Given the description of an element on the screen output the (x, y) to click on. 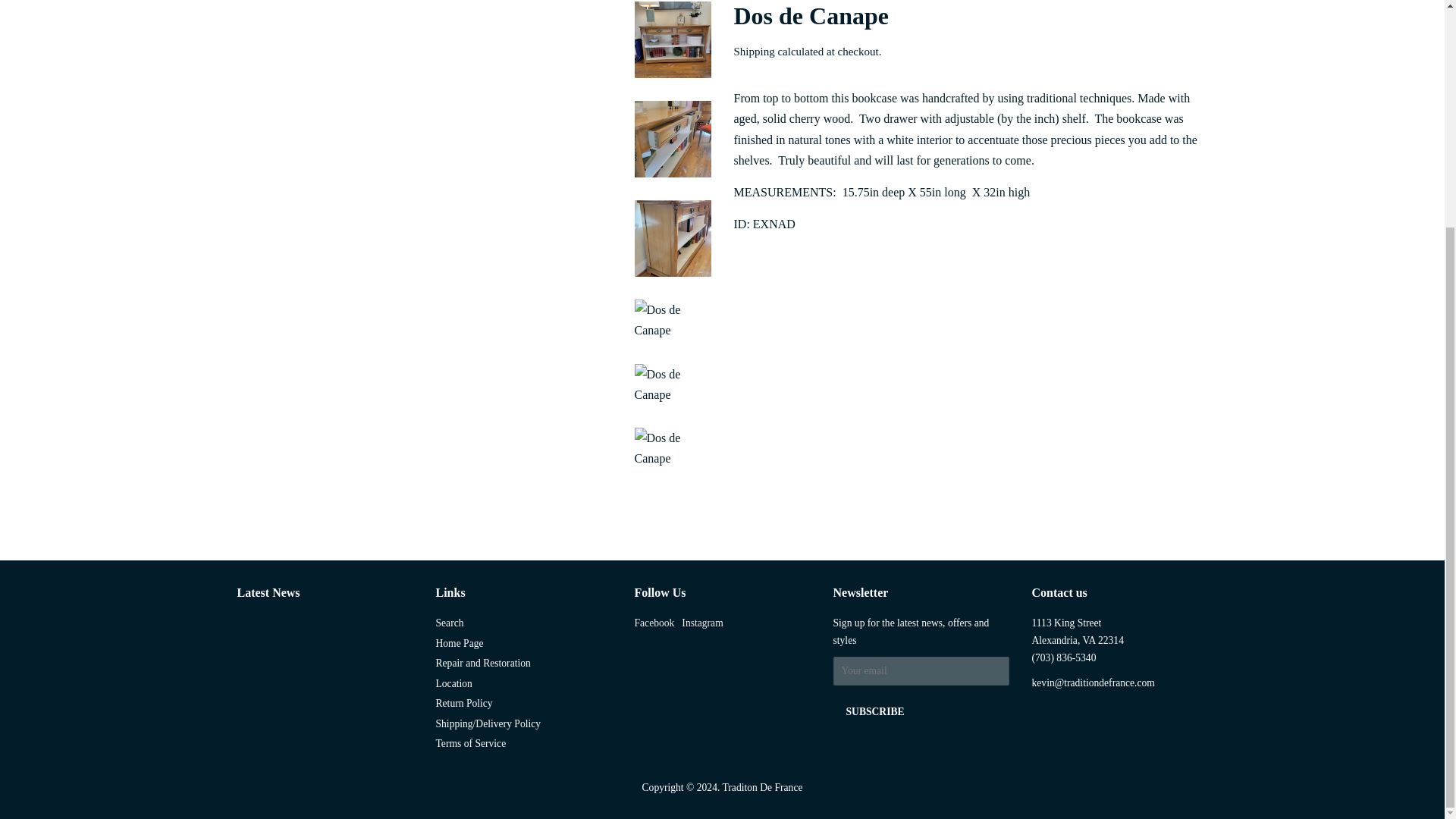
Tradition De France on Facebook (653, 622)
Tradition De France on Instagram (701, 622)
Subscribe (874, 711)
